Given the description of an element on the screen output the (x, y) to click on. 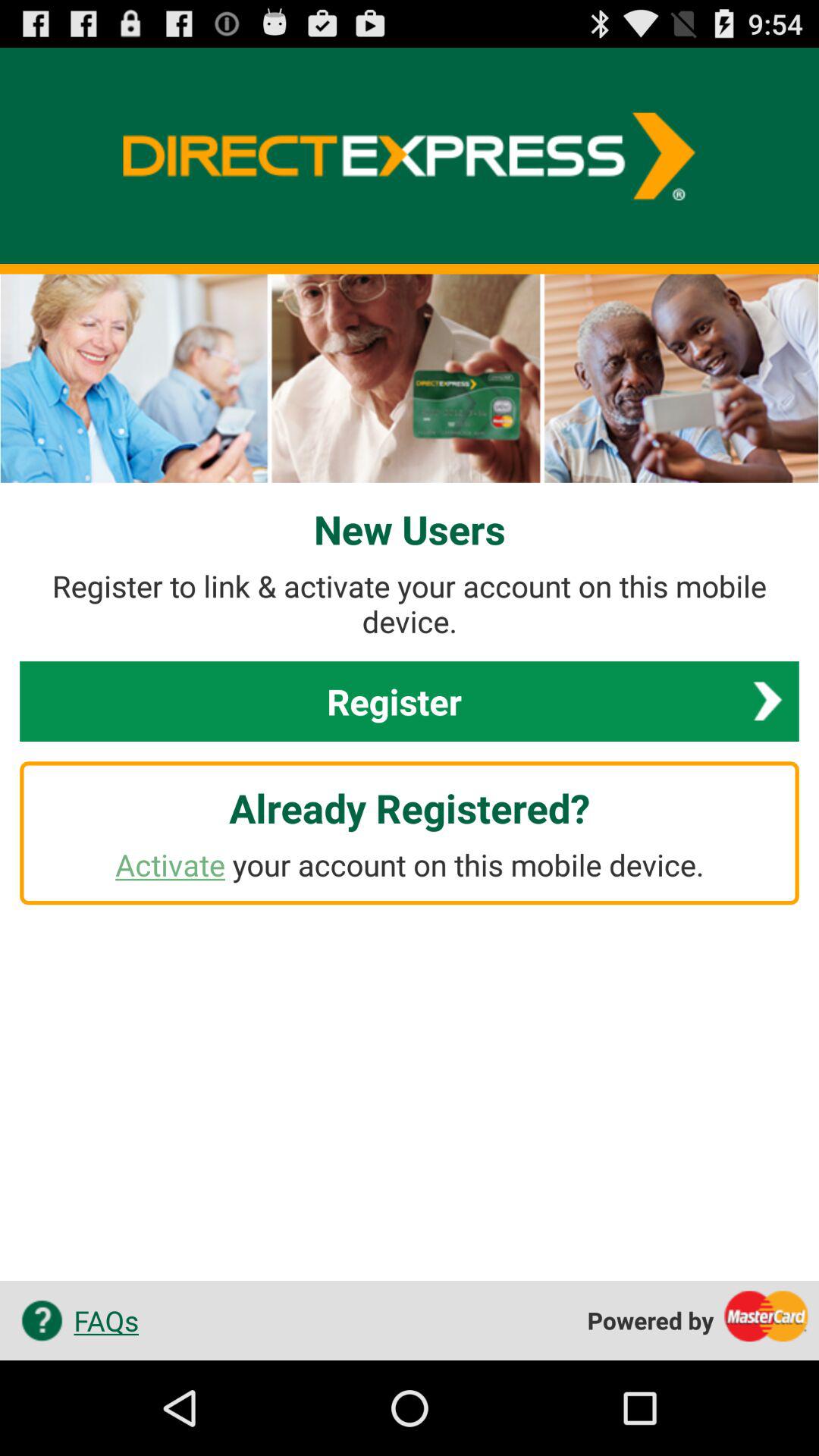
flip until faqs (74, 1320)
